Given the description of an element on the screen output the (x, y) to click on. 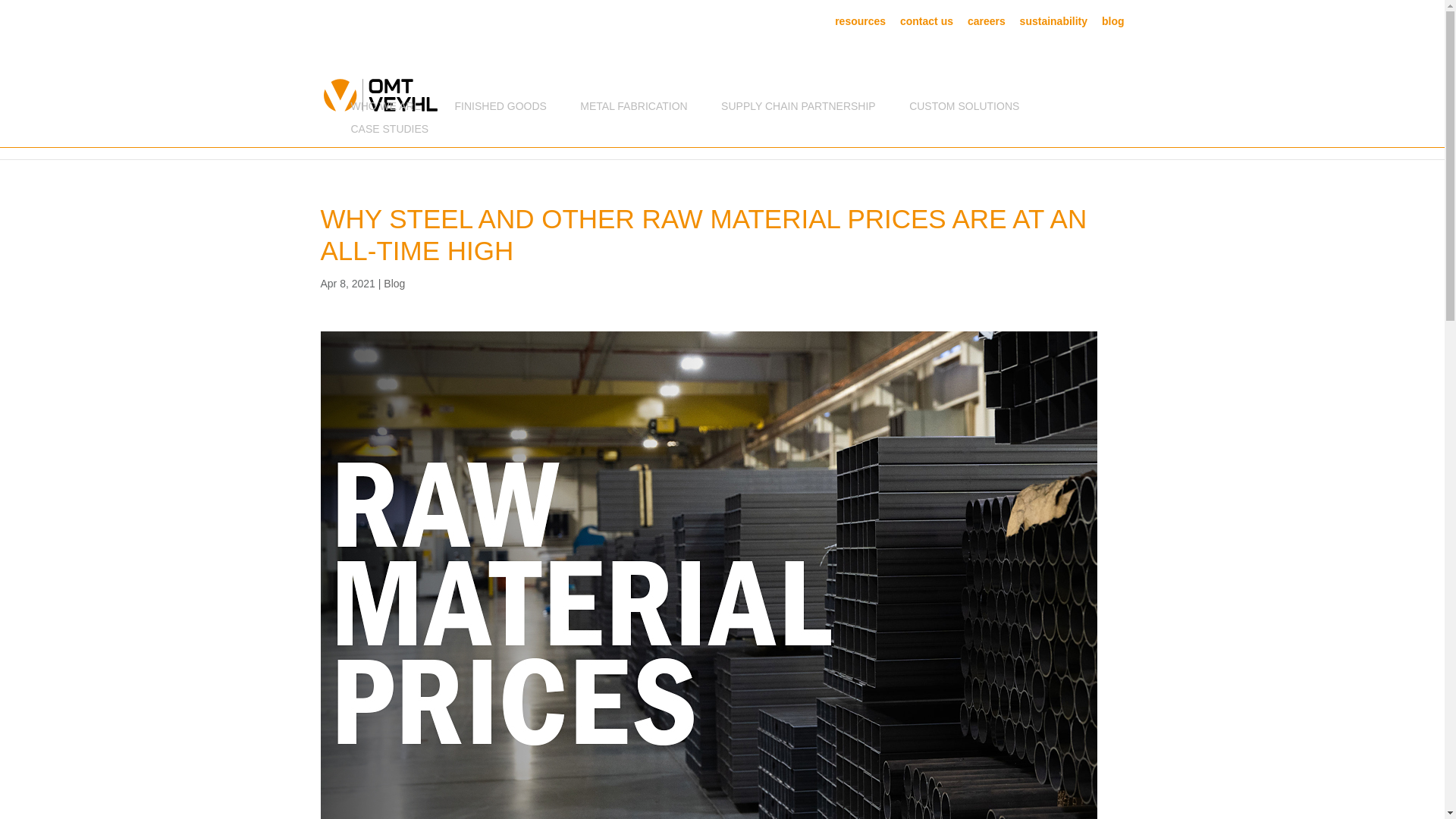
sustainability (1053, 24)
Blog (394, 283)
SUPPLY CHAIN PARTNERSHIP (798, 109)
CUSTOM SOLUTIONS (963, 109)
contact us (926, 24)
FINISHED GOODS (500, 109)
careers (987, 24)
resources (859, 24)
CASE STUDIES (389, 131)
METAL FABRICATION (633, 109)
blog (1113, 24)
WHO WE ARE (385, 109)
